Given the description of an element on the screen output the (x, y) to click on. 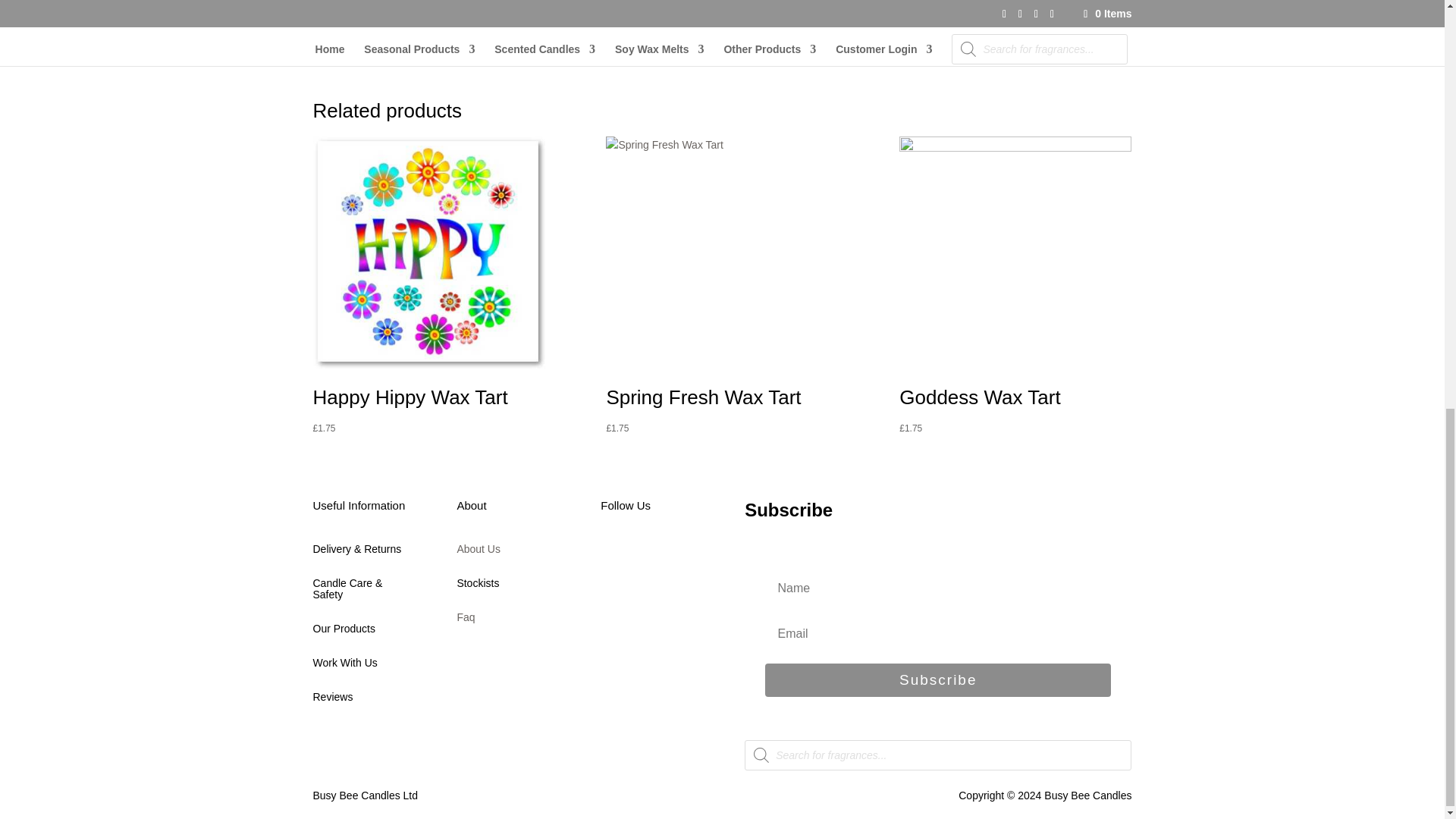
Follow on X (642, 555)
Follow on Instagram (673, 555)
Follow on Facebook (611, 555)
